Given the description of an element on the screen output the (x, y) to click on. 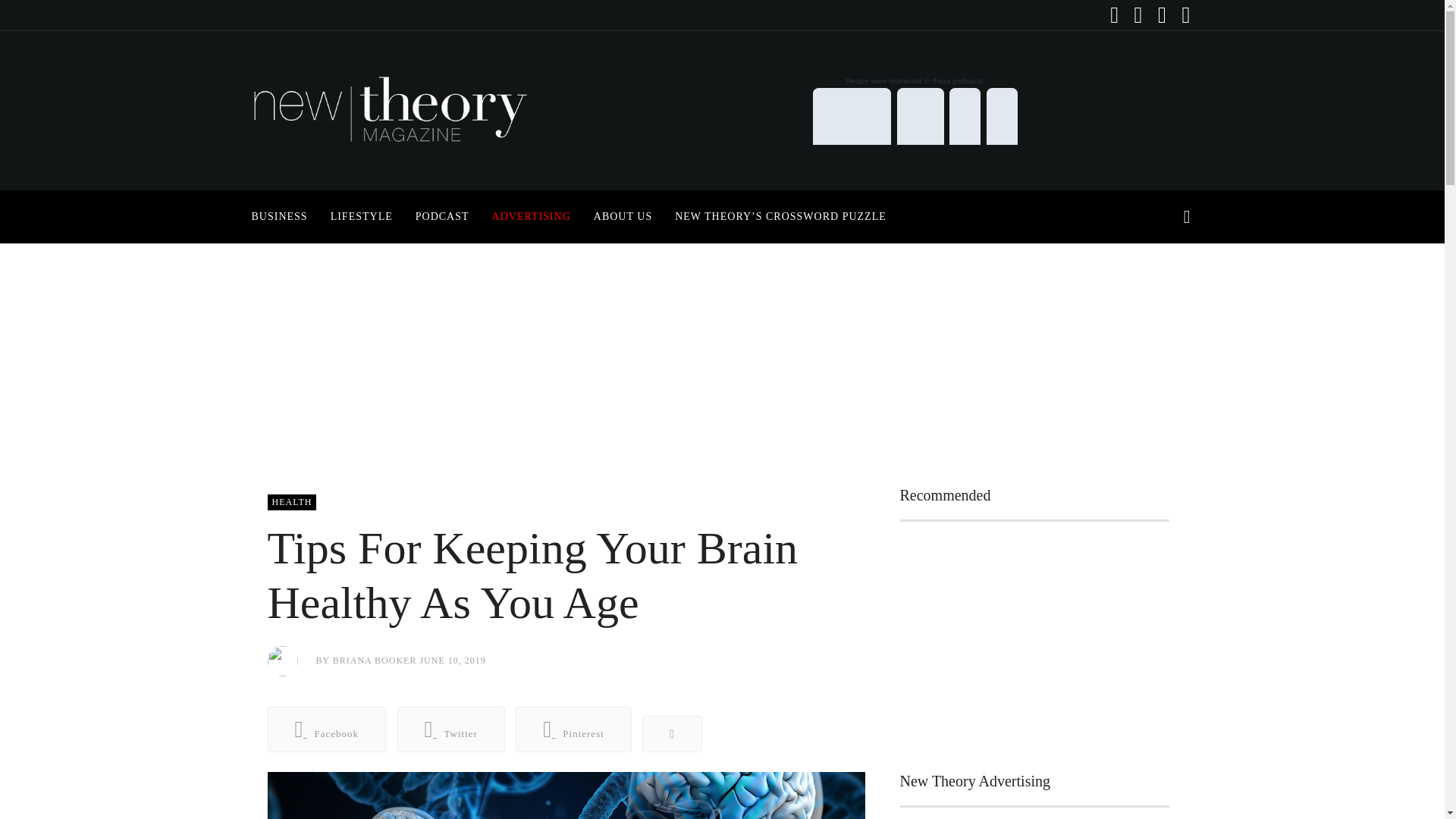
Advertisement (1034, 643)
View all posts in 3043 (290, 502)
